Given the description of an element on the screen output the (x, y) to click on. 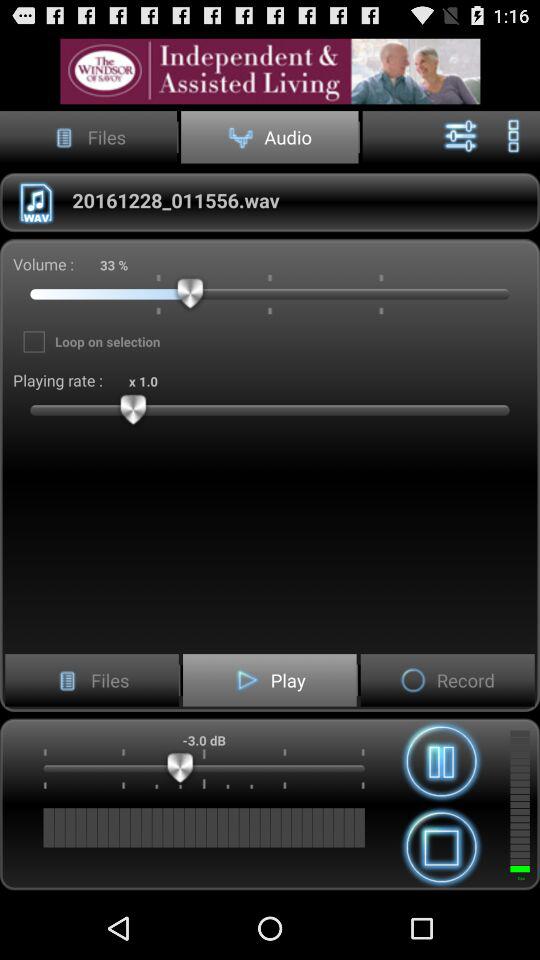
advertisement page (270, 70)
